Given the description of an element on the screen output the (x, y) to click on. 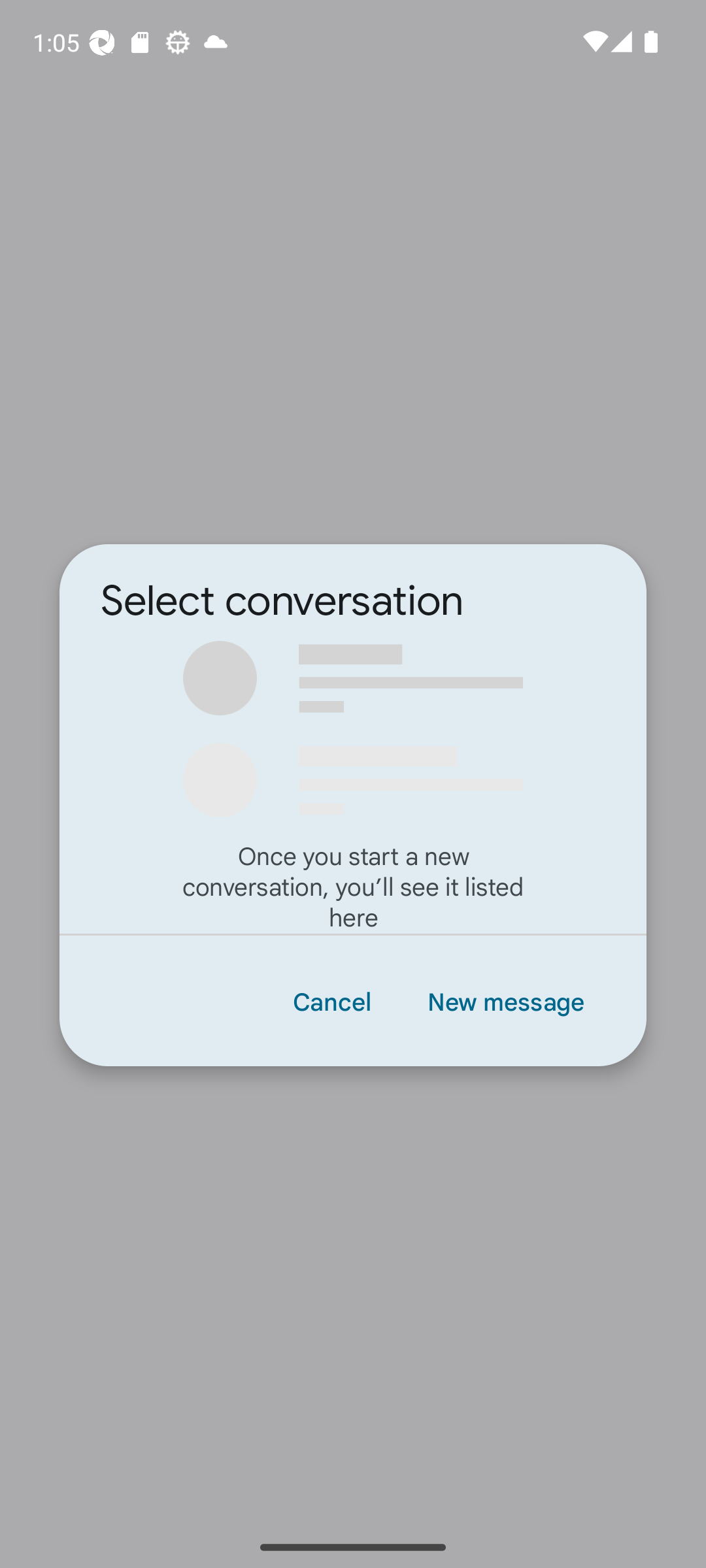
Cancel (331, 1000)
New message (505, 1000)
